Given the description of an element on the screen output the (x, y) to click on. 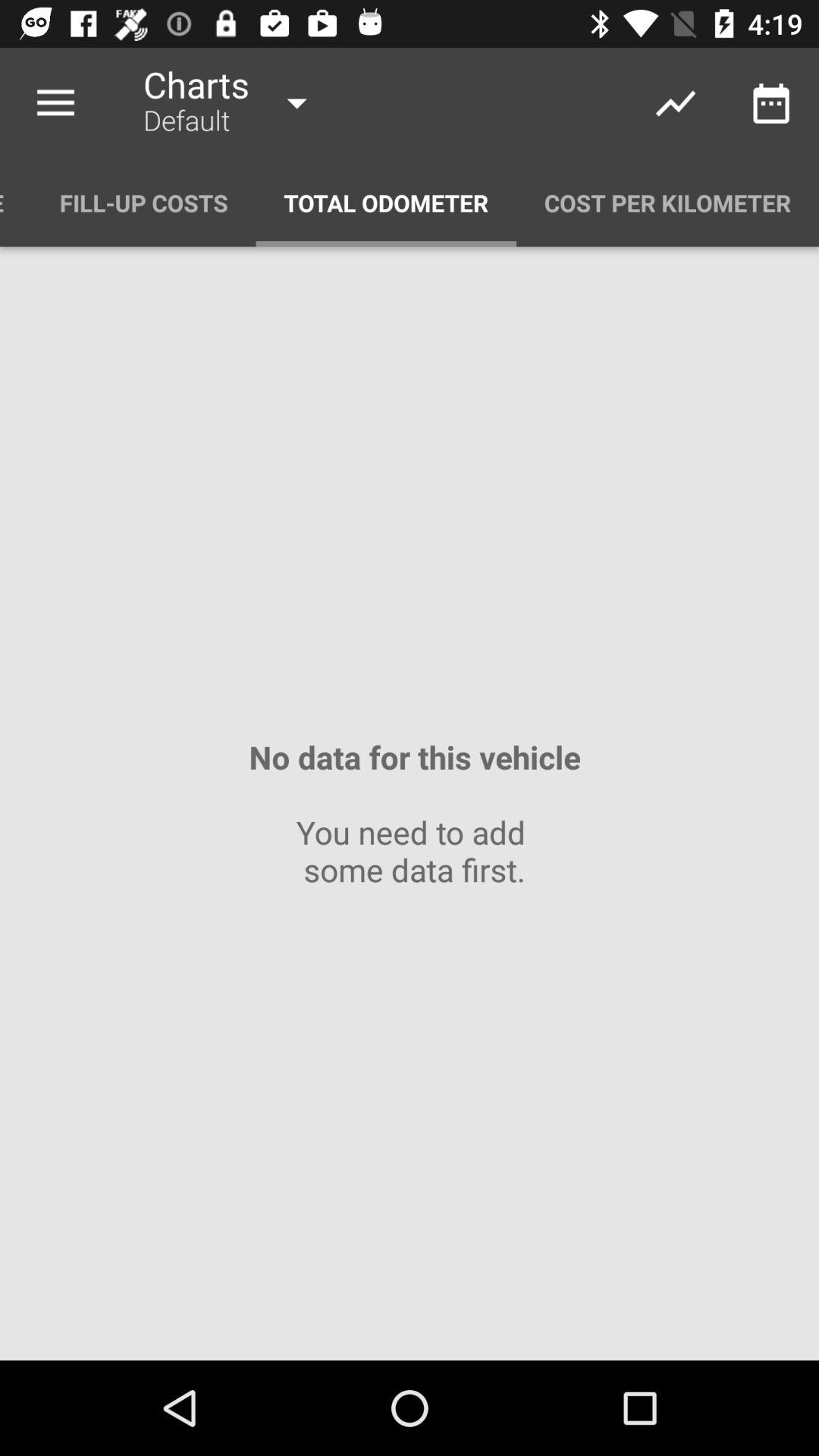
turn off icon below default icon (385, 202)
